Given the description of an element on the screen output the (x, y) to click on. 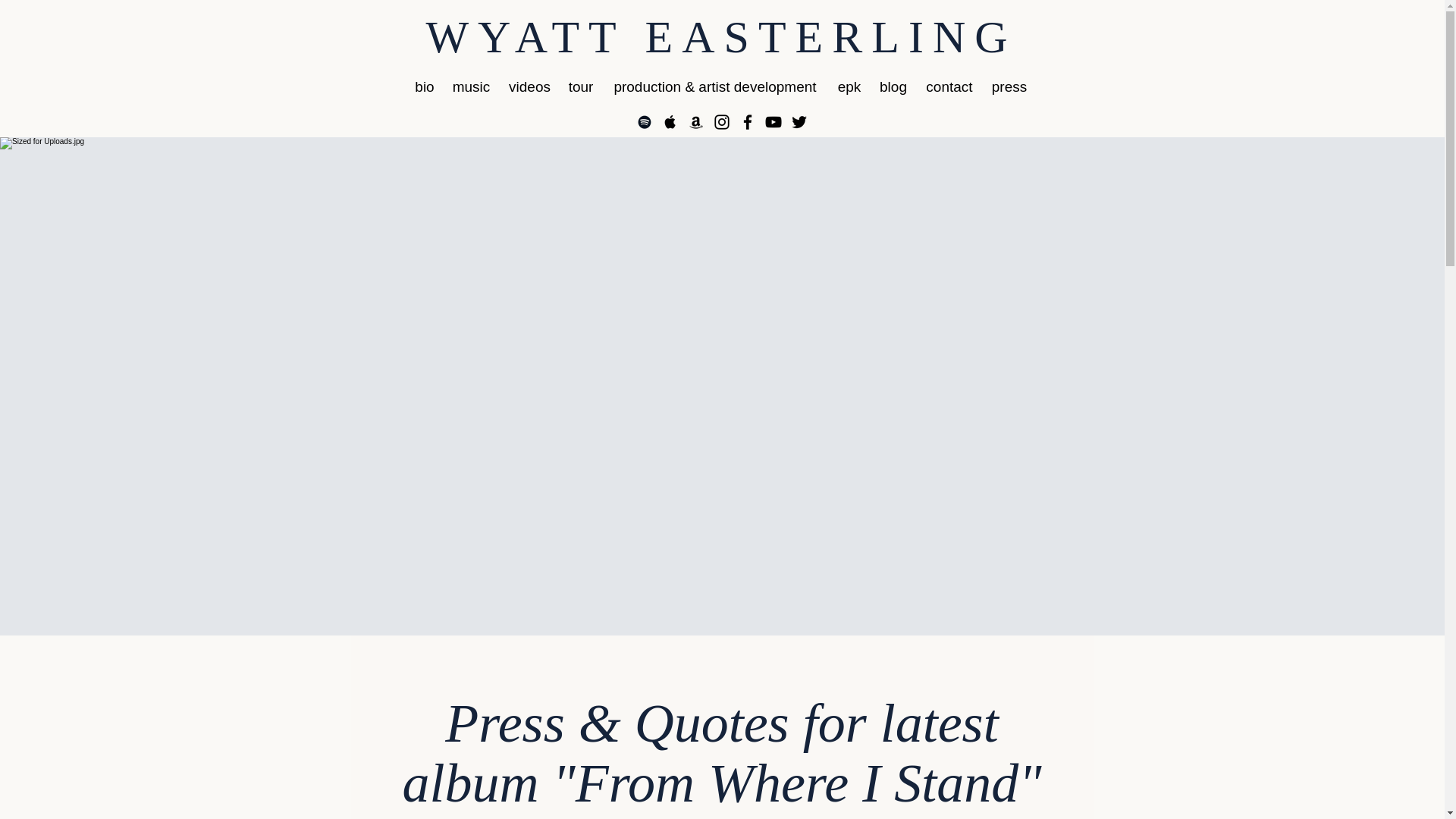
videos (529, 86)
blog (893, 86)
epk (848, 86)
bio (425, 86)
contact (948, 86)
press (1009, 86)
music (470, 86)
WYATT EASTERLING (720, 37)
tour (580, 86)
